Given the description of an element on the screen output the (x, y) to click on. 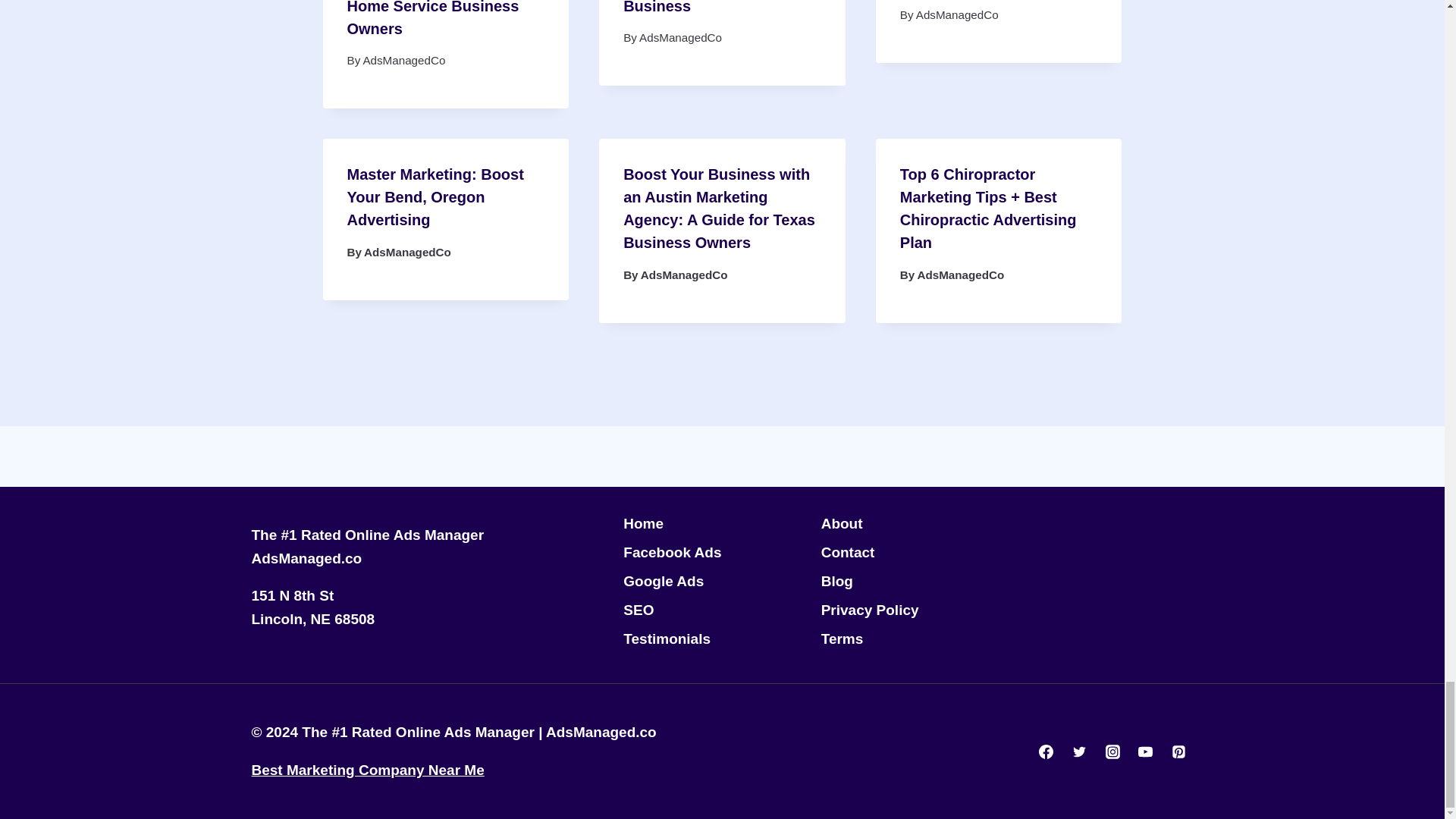
AdsManagedCo (680, 37)
AdsManagedCo (403, 60)
Your Small Business Exit Strategy: How to Sell Your Business (717, 7)
